Given the description of an element on the screen output the (x, y) to click on. 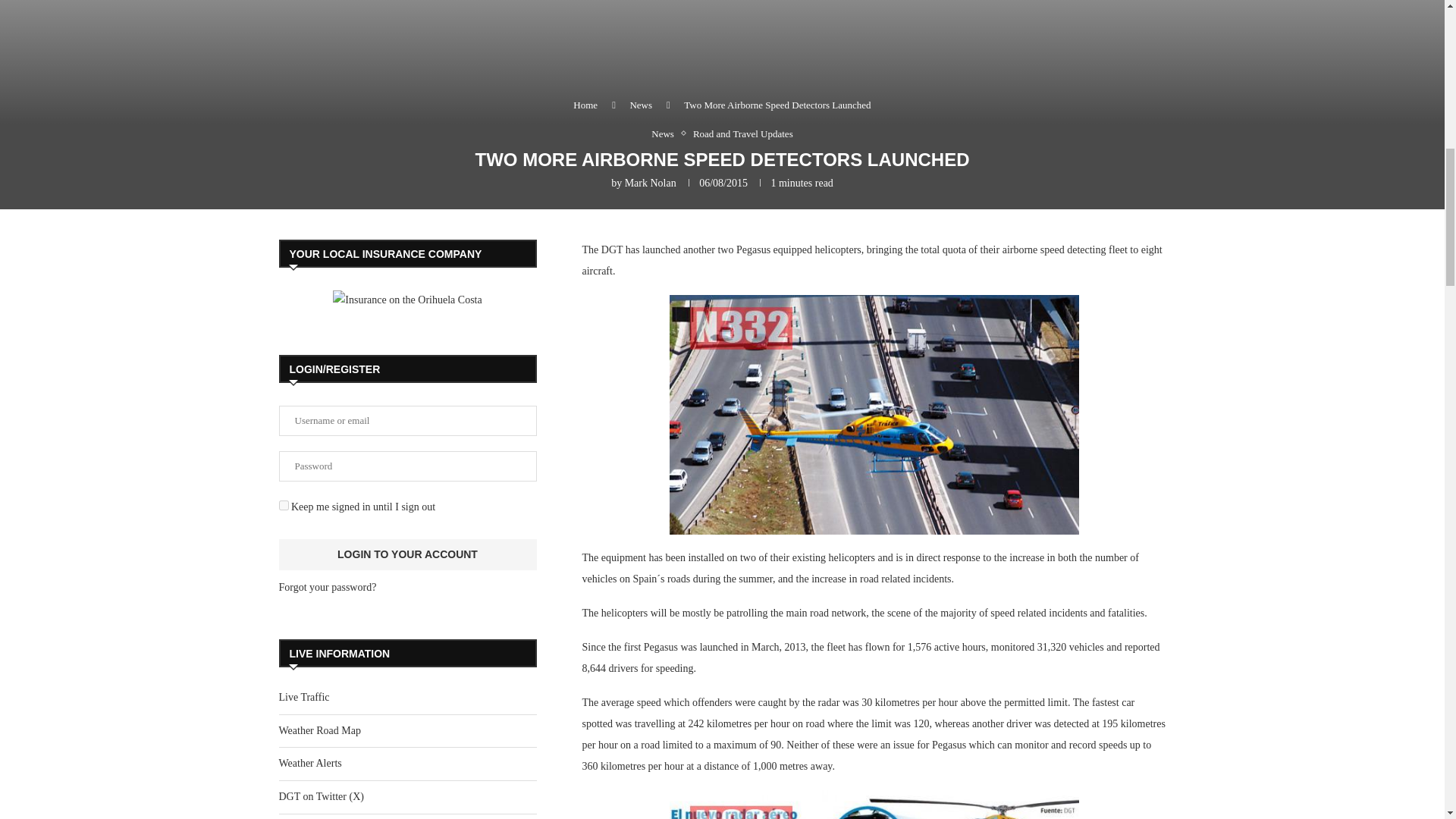
Login to your account (408, 554)
forever (283, 505)
